Given the description of an element on the screen output the (x, y) to click on. 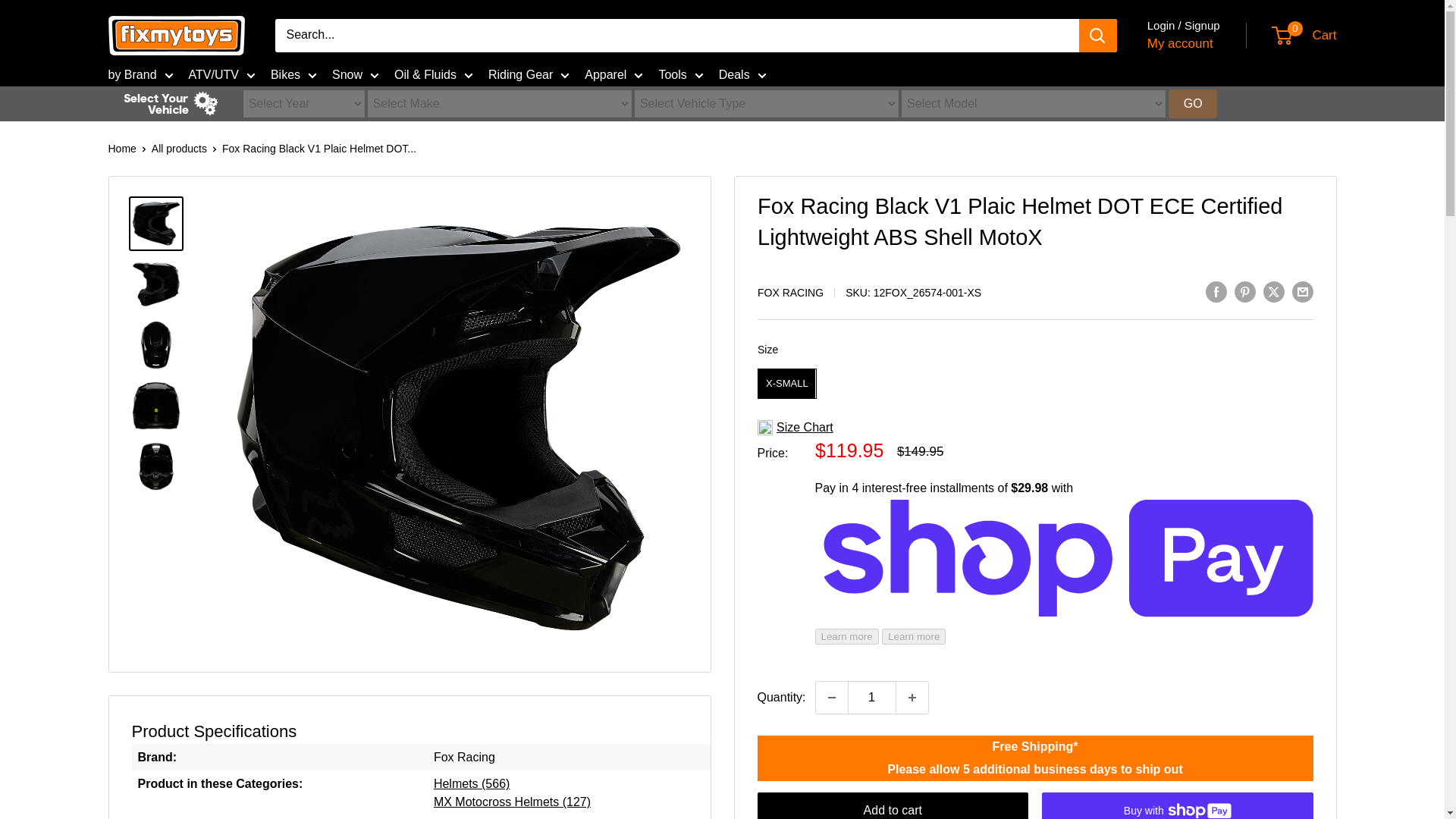
Increase quantity by 1 (912, 697)
1 (871, 697)
Decrease quantity by 1 (831, 697)
Customer reviews powered by Trustpilot (1035, 273)
